Given the description of an element on the screen output the (x, y) to click on. 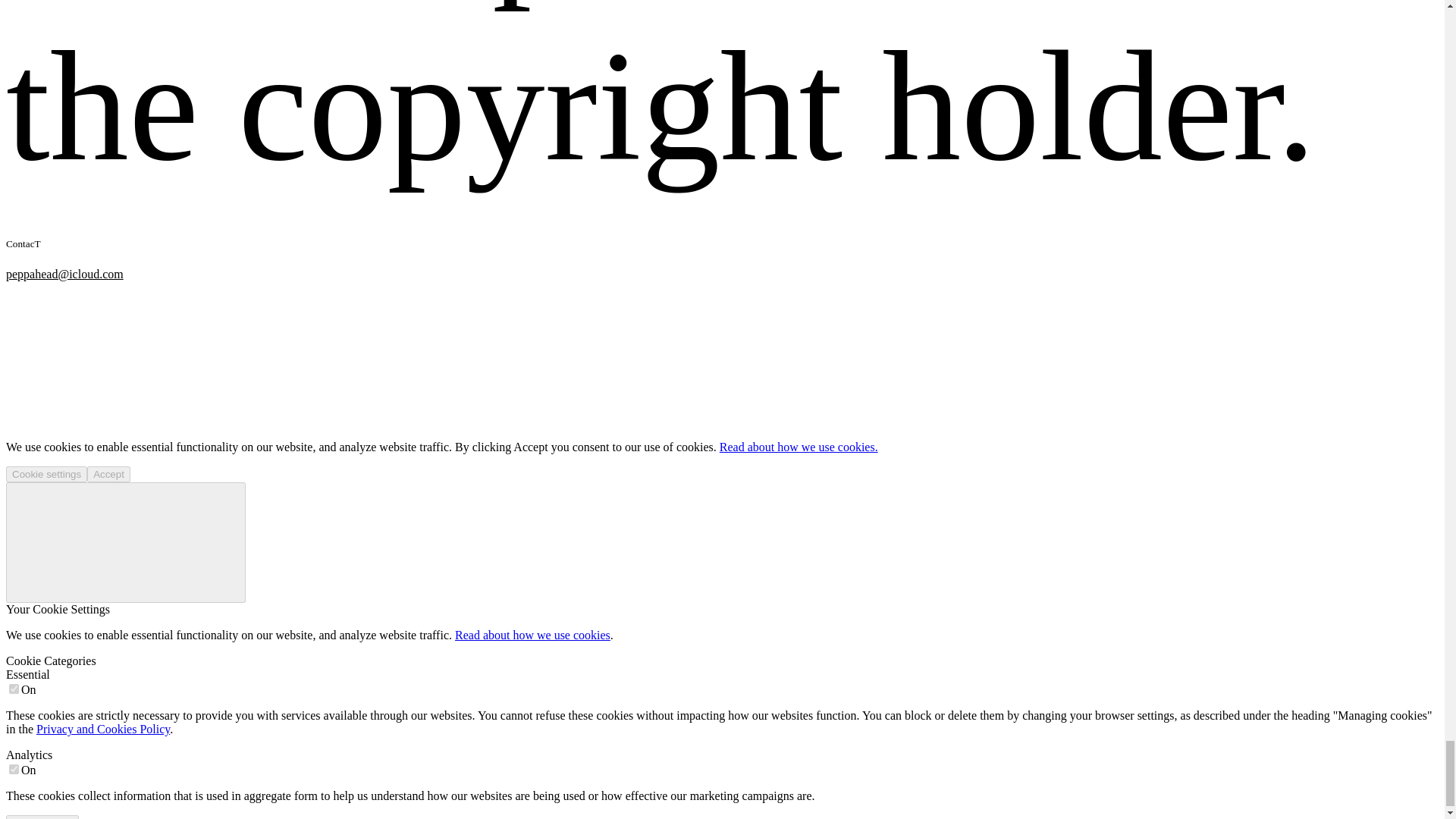
Read about how we use cookies (532, 634)
on (13, 688)
Privacy and Cookies Policy (103, 728)
Cookie settings (46, 474)
Read about how we use cookies. (798, 446)
Accept (109, 474)
on (13, 768)
